Given the description of an element on the screen output the (x, y) to click on. 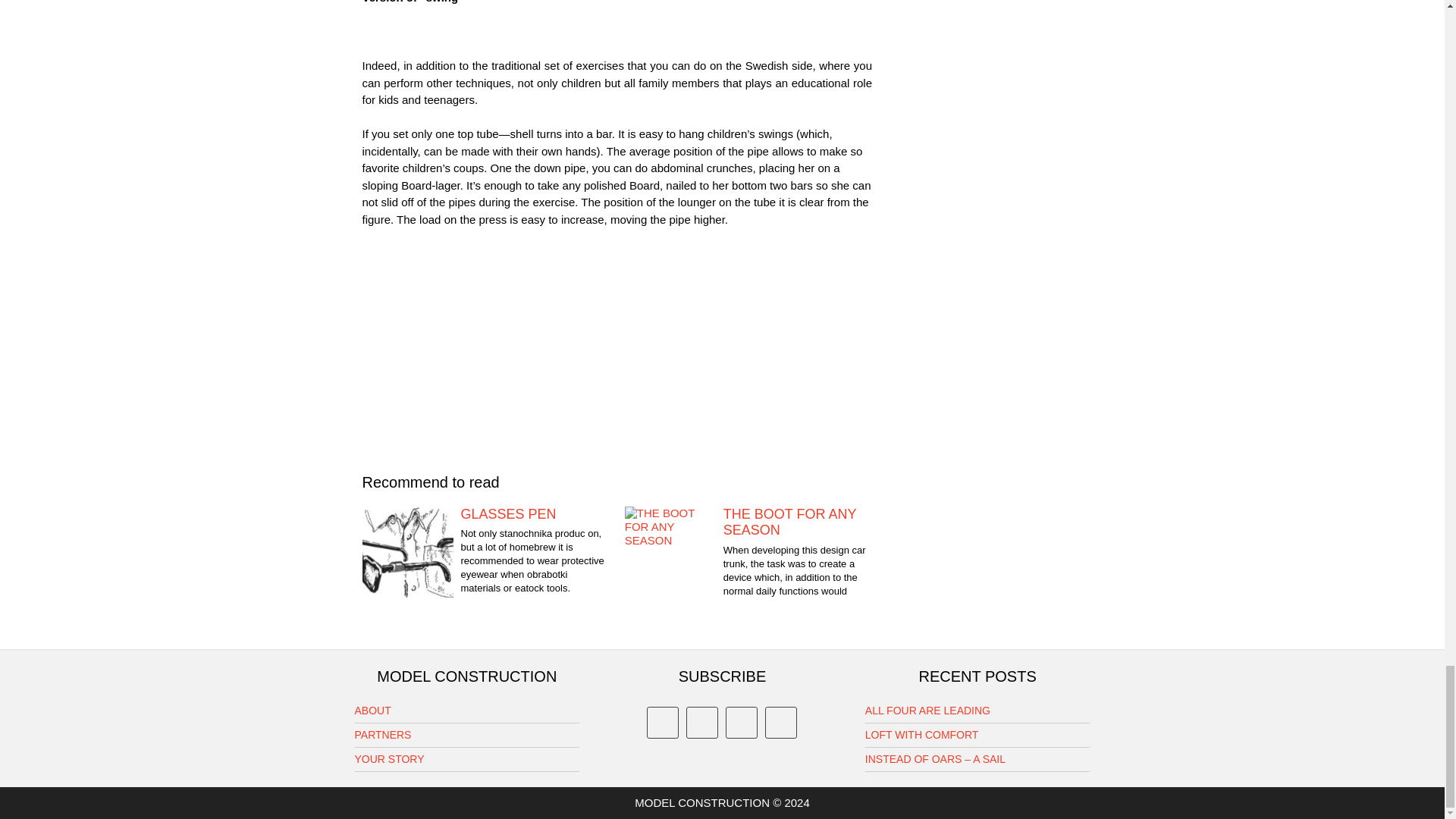
THE BOOT FOR ANY SEASON (748, 522)
GLASSES PEN (486, 514)
